Given the description of an element on the screen output the (x, y) to click on. 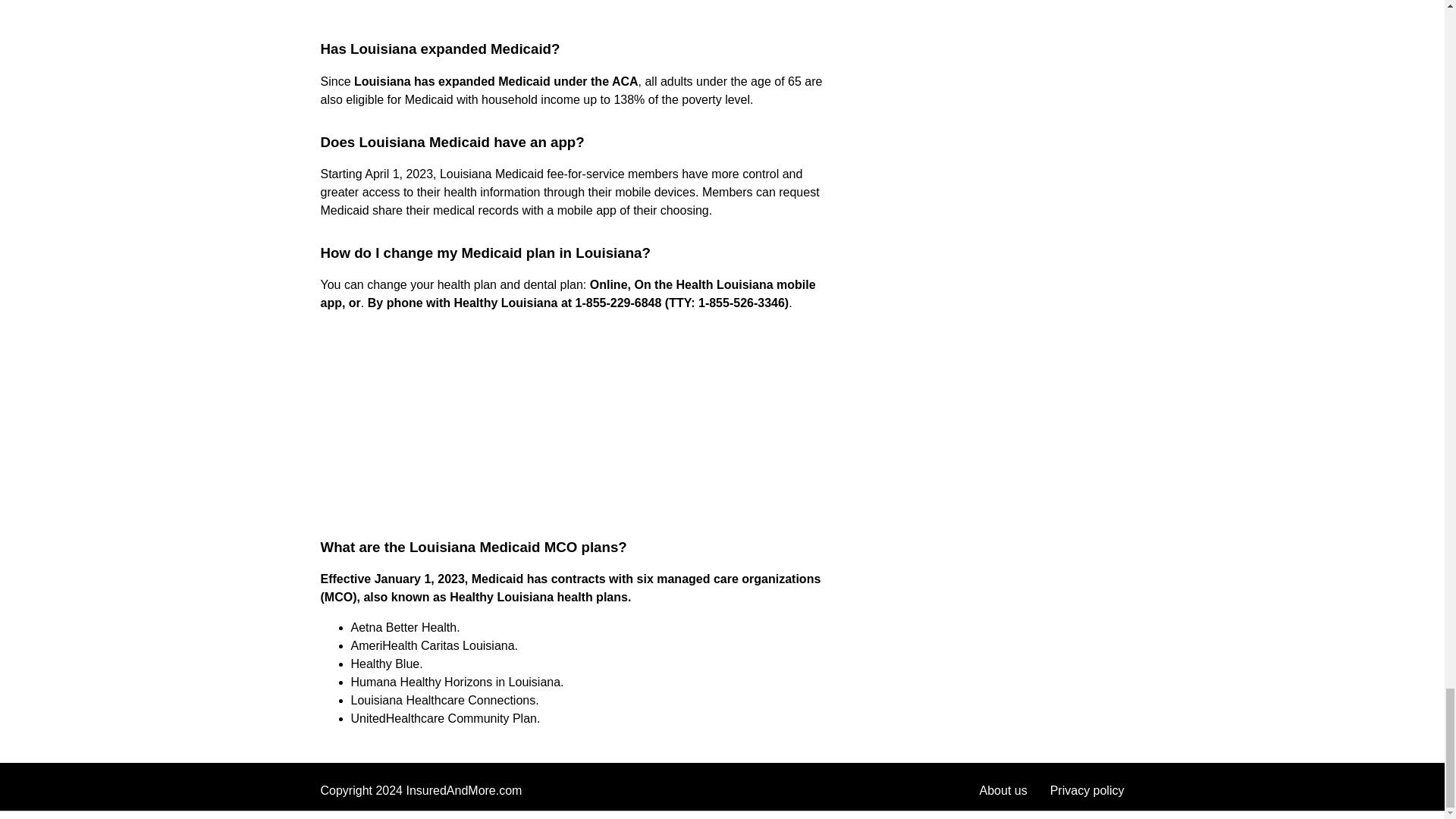
Privacy policy (1086, 790)
About us (1003, 790)
